Given the description of an element on the screen output the (x, y) to click on. 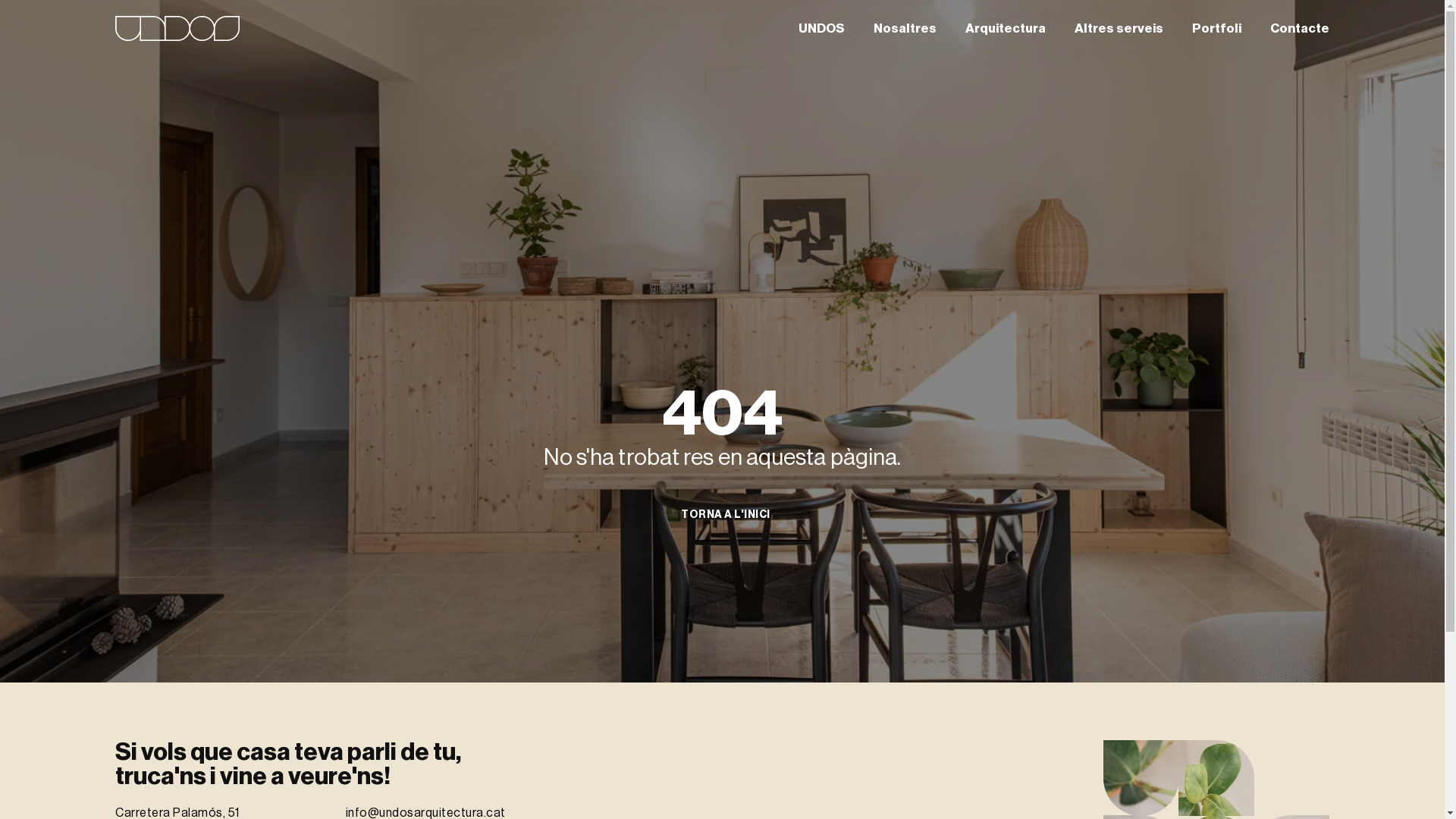
UNDOS Element type: text (821, 27)
Nosaltres Element type: text (904, 27)
Portfoli Element type: text (1216, 27)
Arquitectura Element type: text (1005, 27)
Contacte Element type: text (1299, 27)
Altres serveis Element type: text (1118, 27)
